Given the description of an element on the screen output the (x, y) to click on. 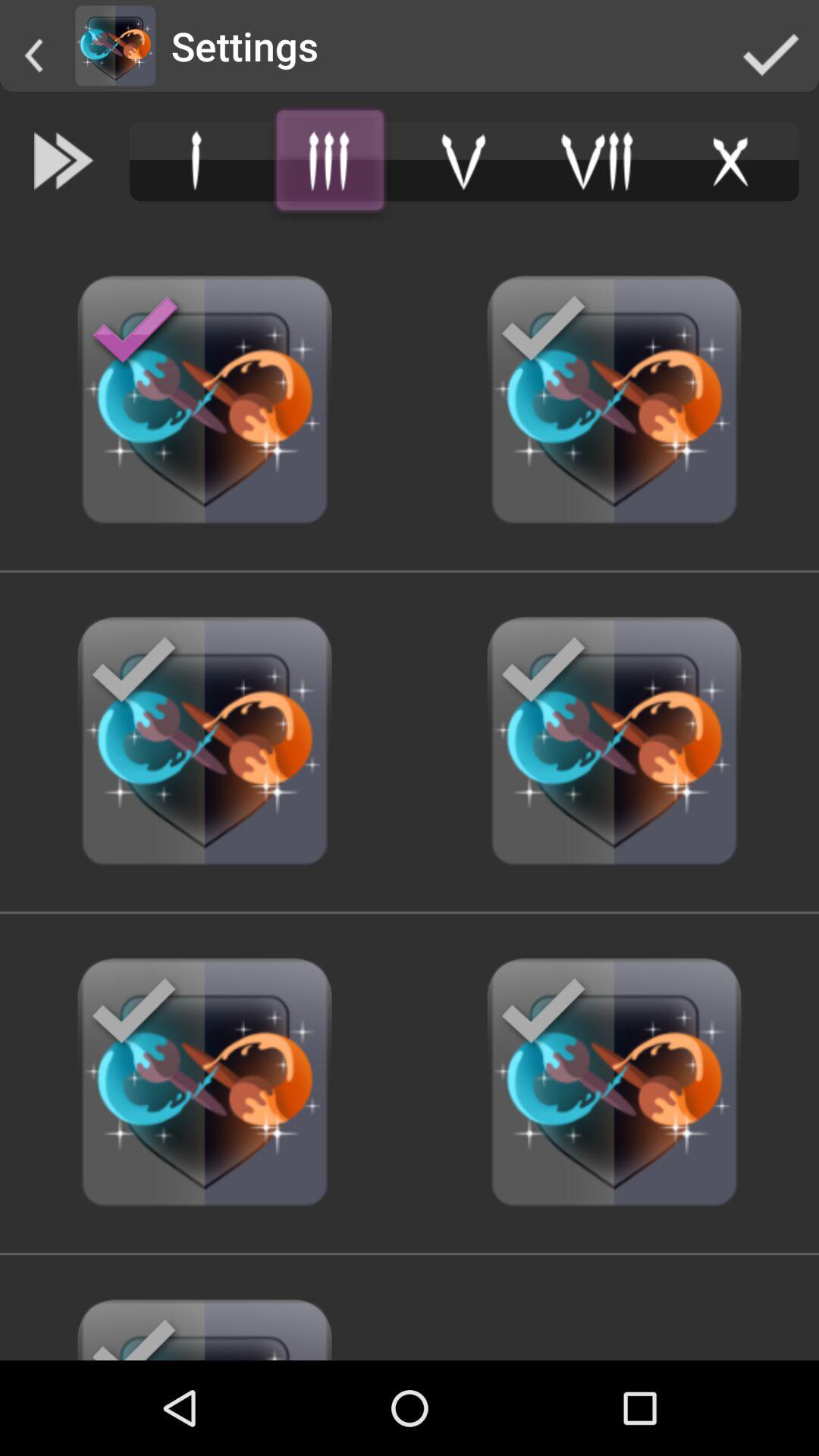
select i (196, 161)
